Given the description of an element on the screen output the (x, y) to click on. 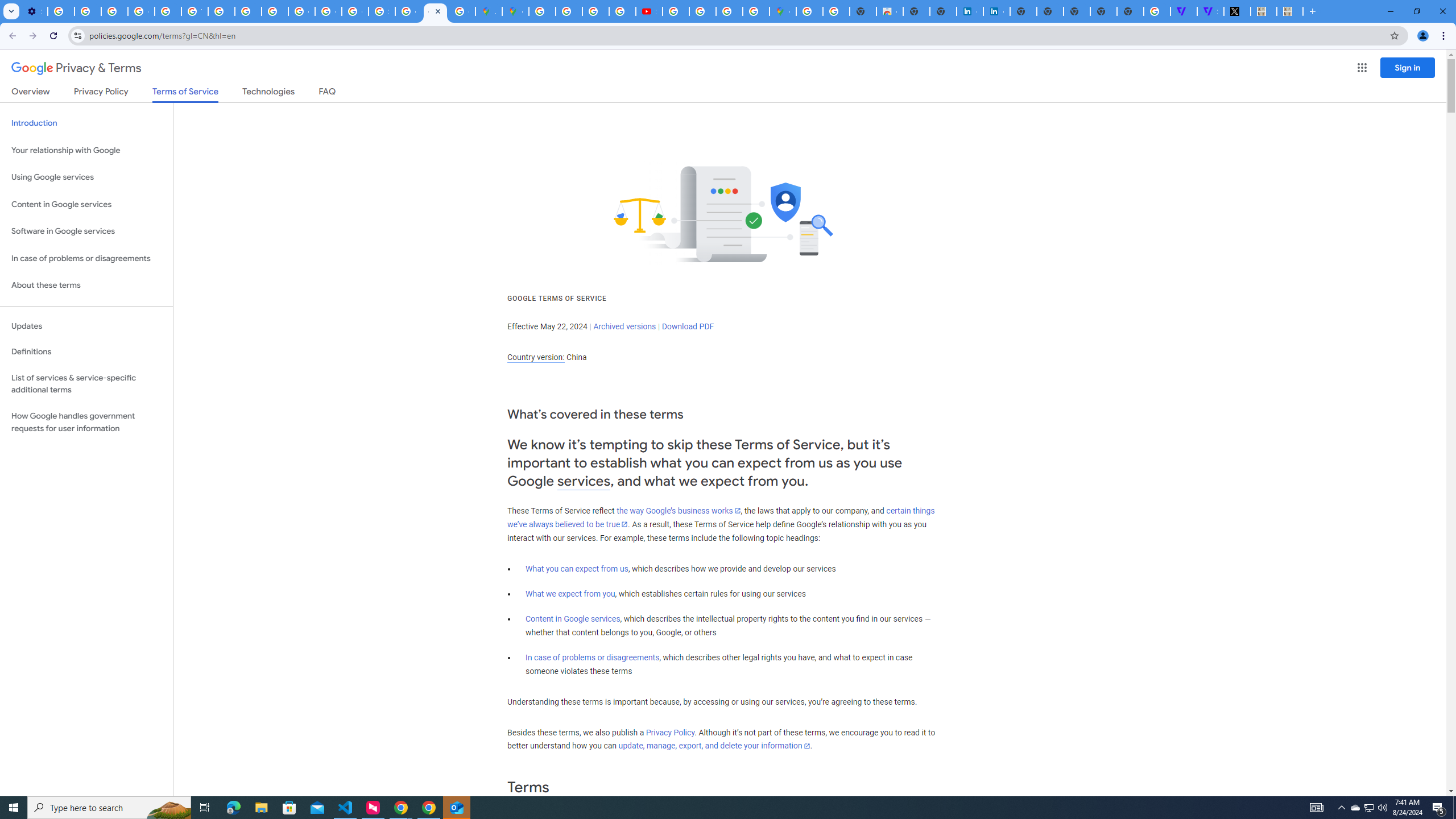
Subscriptions - YouTube (649, 11)
Privacy Help Center - Policies Help (595, 11)
In case of problems or disagreements (592, 657)
What you can expect from us (576, 568)
Download PDF (687, 326)
Google Maps (782, 11)
Archived versions (624, 326)
